Given the description of an element on the screen output the (x, y) to click on. 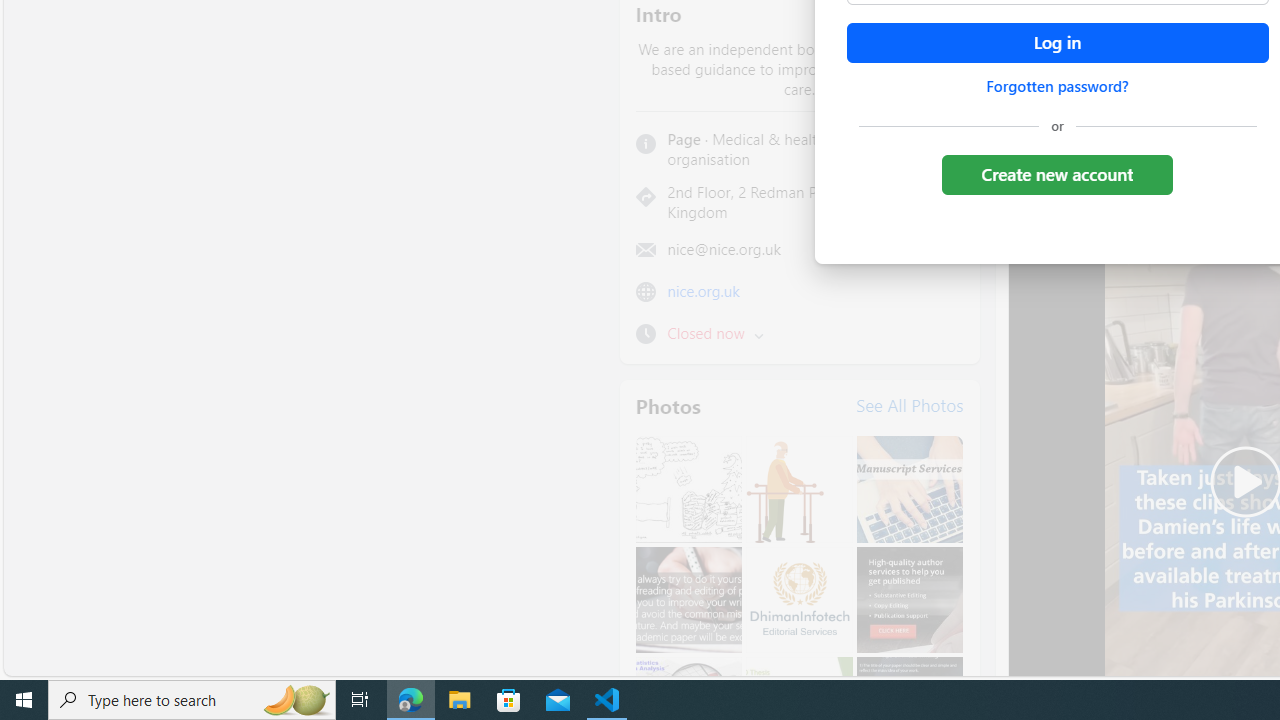
Forgotten password? (1057, 85)
Accessible login button (1057, 43)
Create new account (1056, 174)
